Given the description of an element on the screen output the (x, y) to click on. 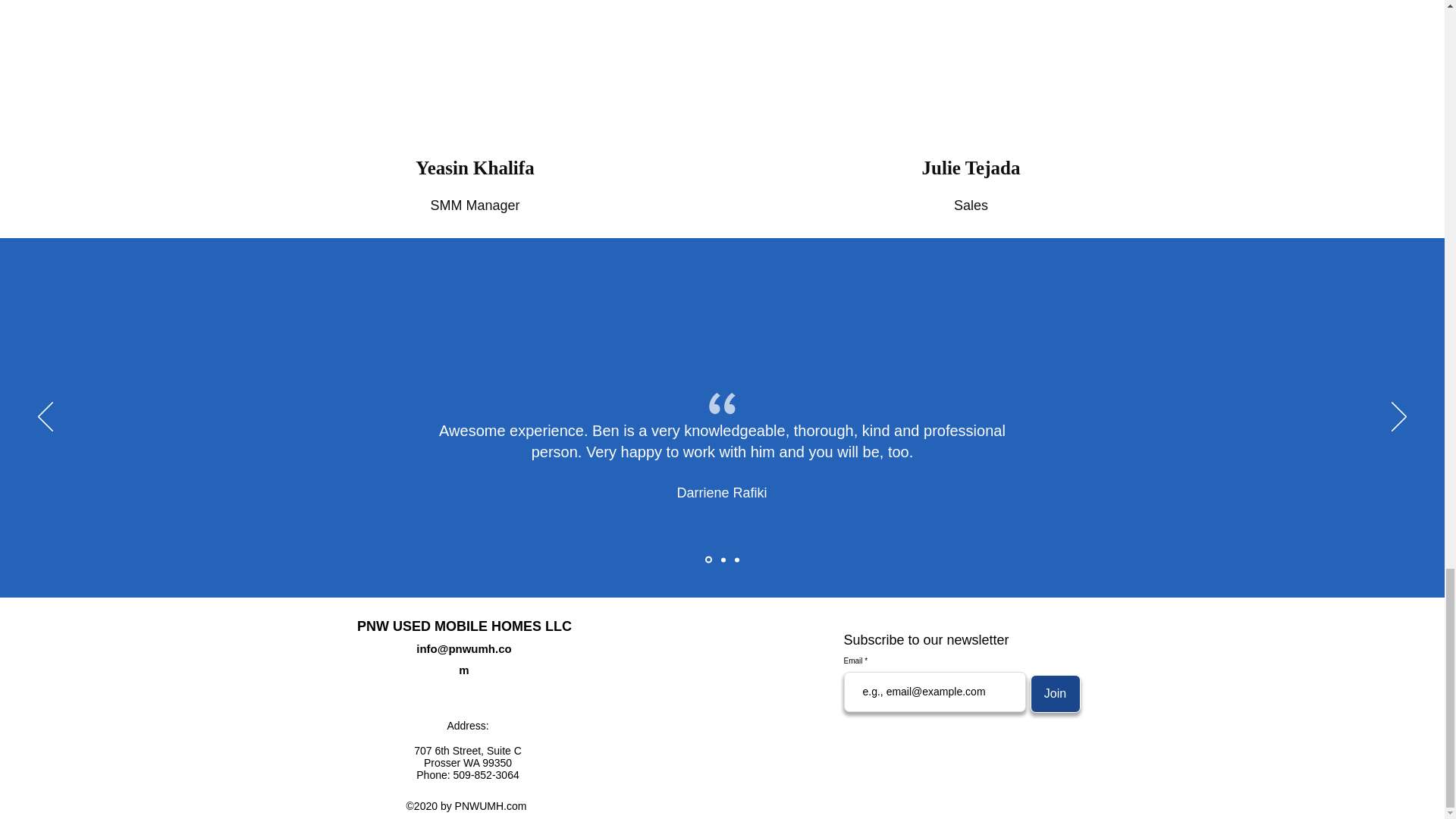
Darriene Rafiki (722, 492)
guy4.jpg (476, 63)
